Given the description of an element on the screen output the (x, y) to click on. 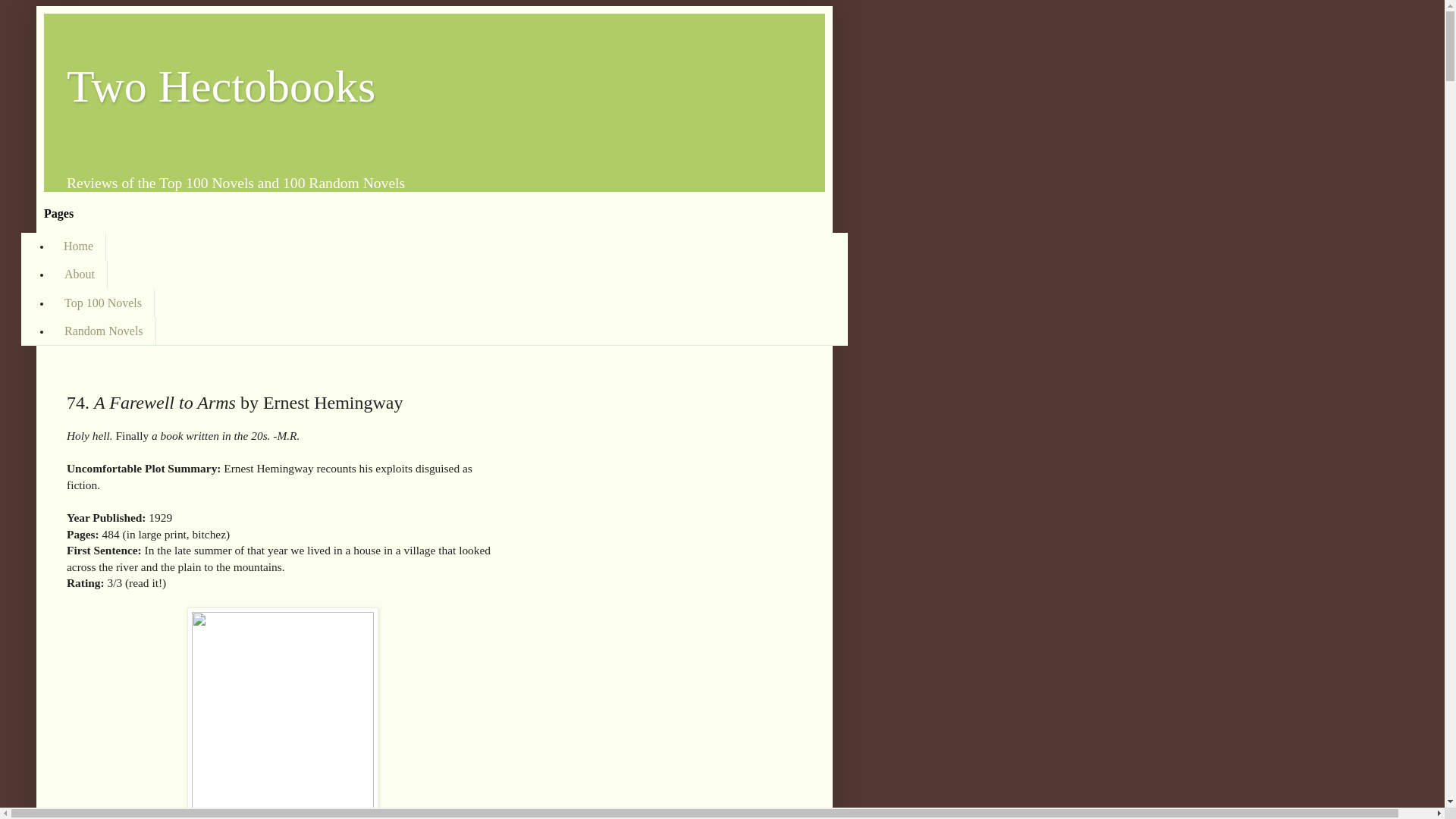
Random Novels (102, 330)
Home (78, 246)
About (78, 275)
Top 100 Novels (102, 302)
Two Hectobooks (220, 86)
